Given the description of an element on the screen output the (x, y) to click on. 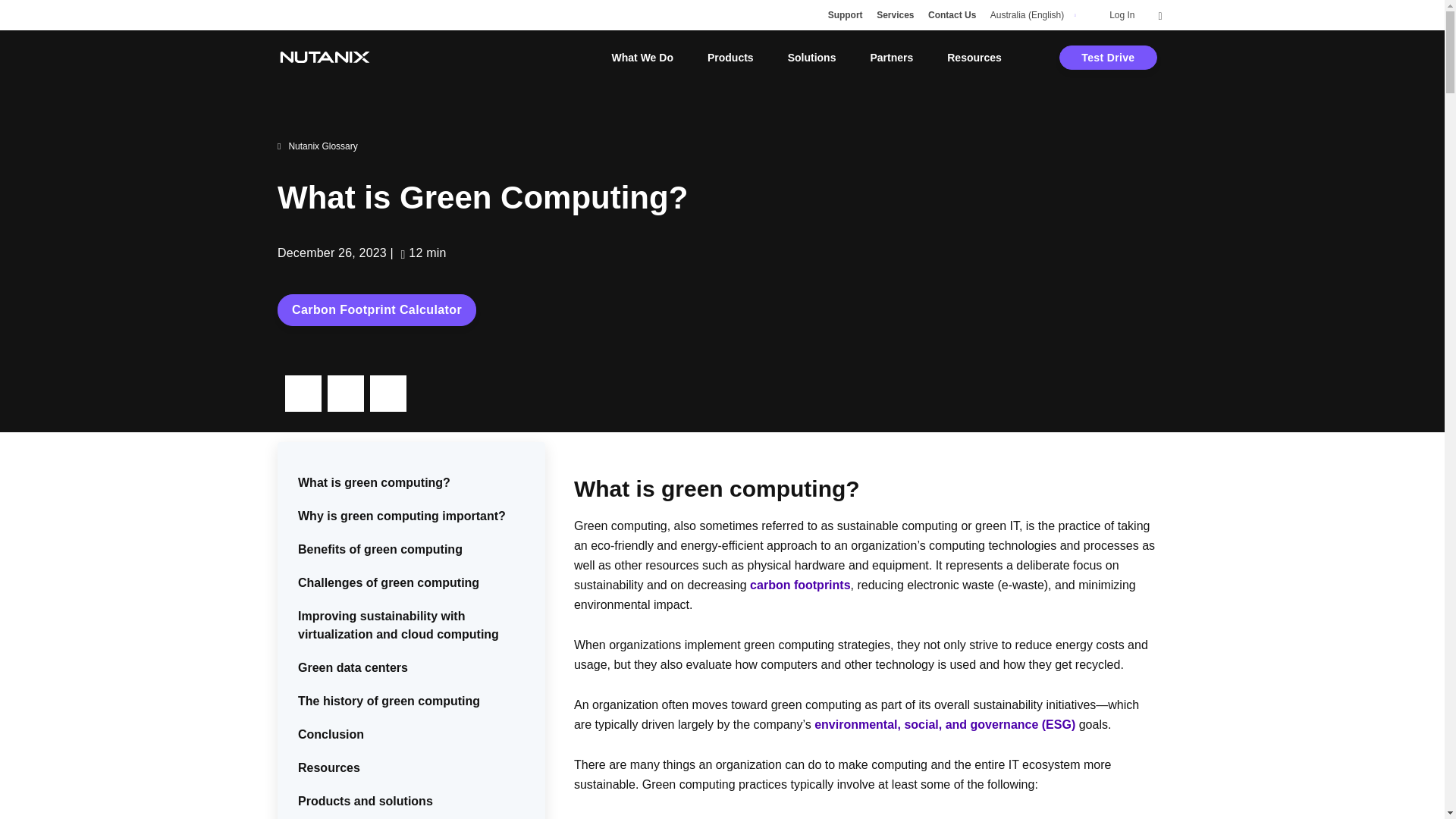
Services (895, 15)
Contact Us (951, 15)
What We Do (641, 57)
Products (730, 57)
Support (845, 15)
